Given the description of an element on the screen output the (x, y) to click on. 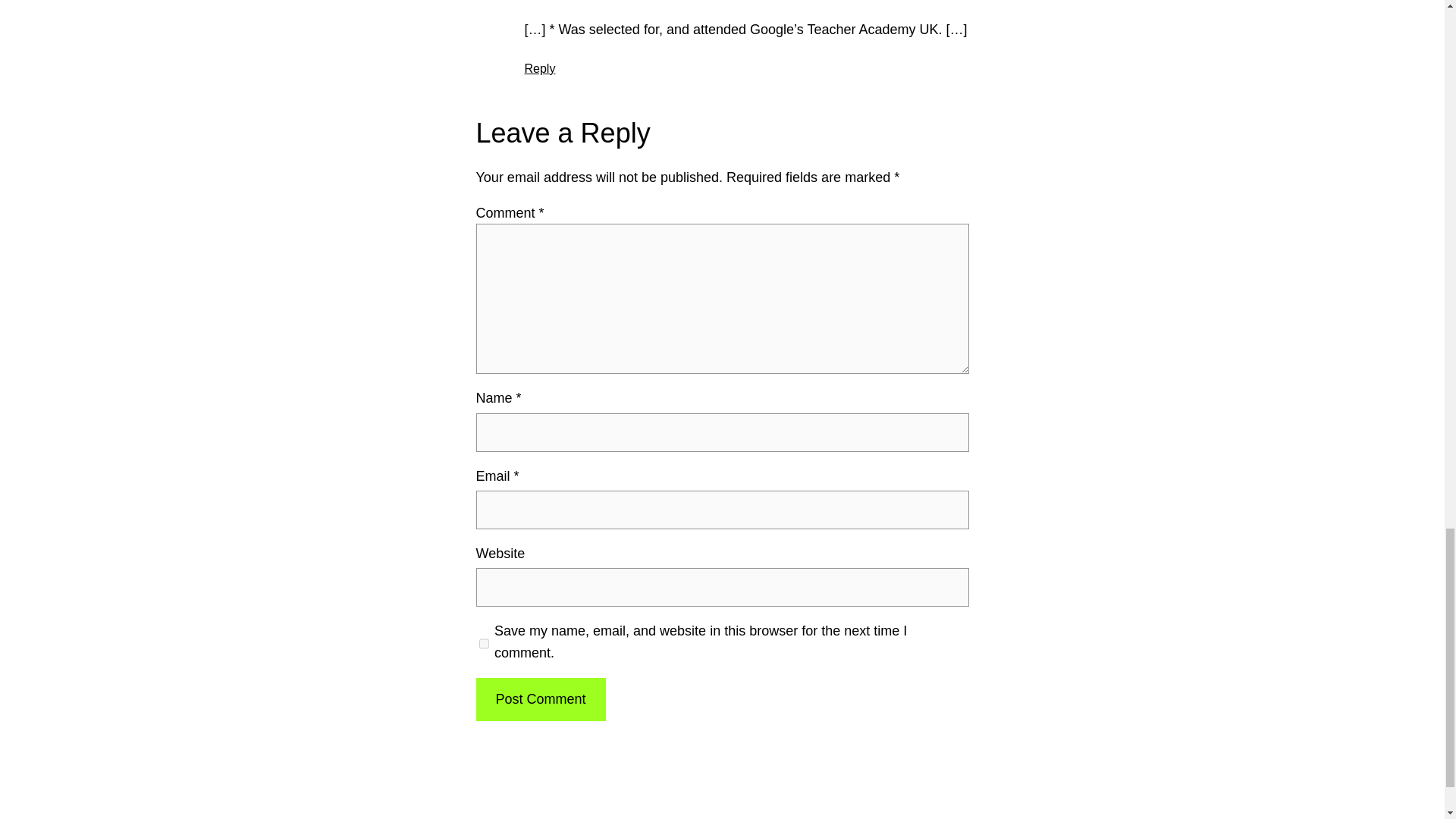
Reply (540, 68)
Post Comment (540, 699)
Post Comment (540, 699)
